Given the description of an element on the screen output the (x, y) to click on. 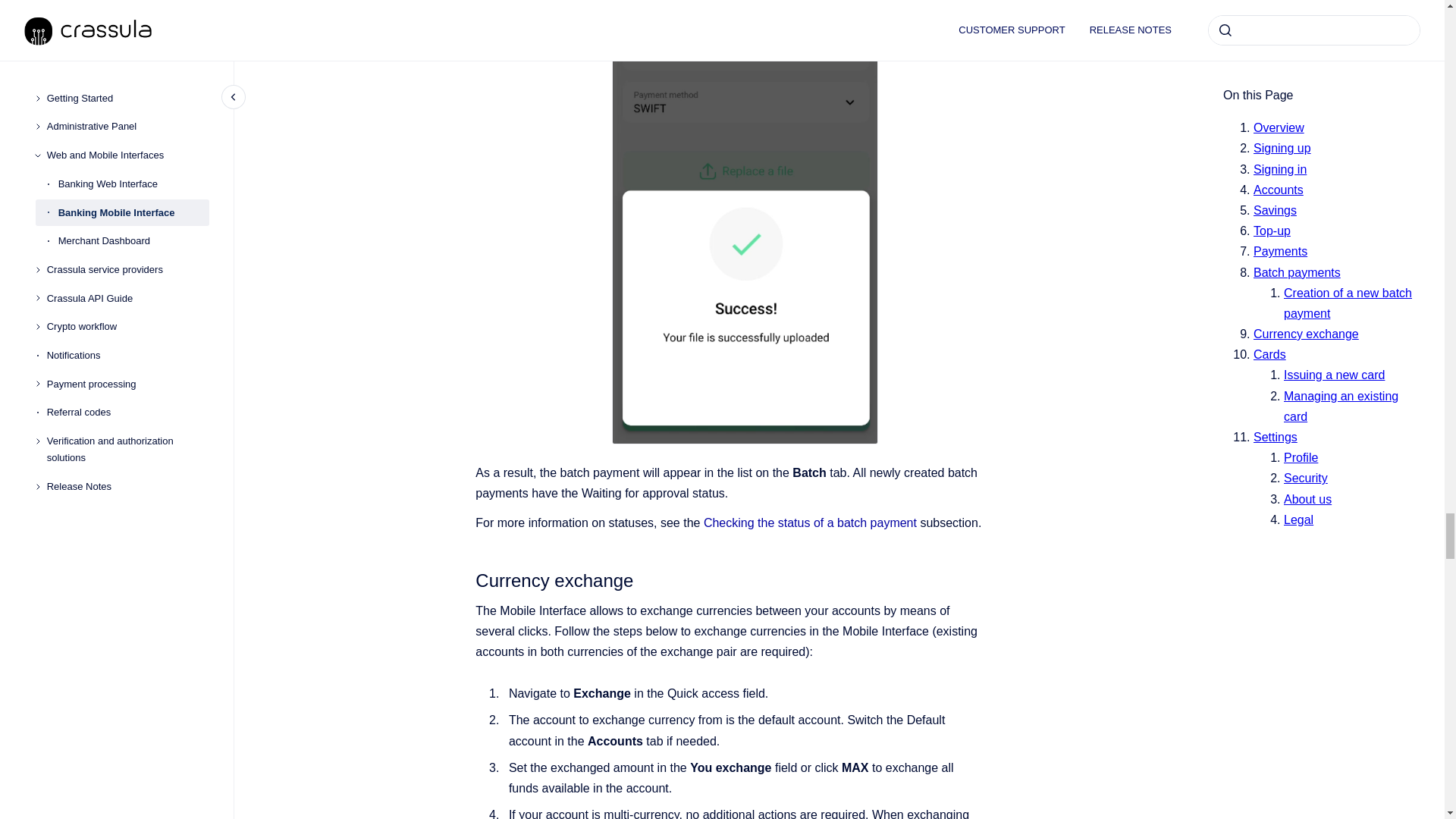
Copy to clipboard (468, 578)
